Given the description of an element on the screen output the (x, y) to click on. 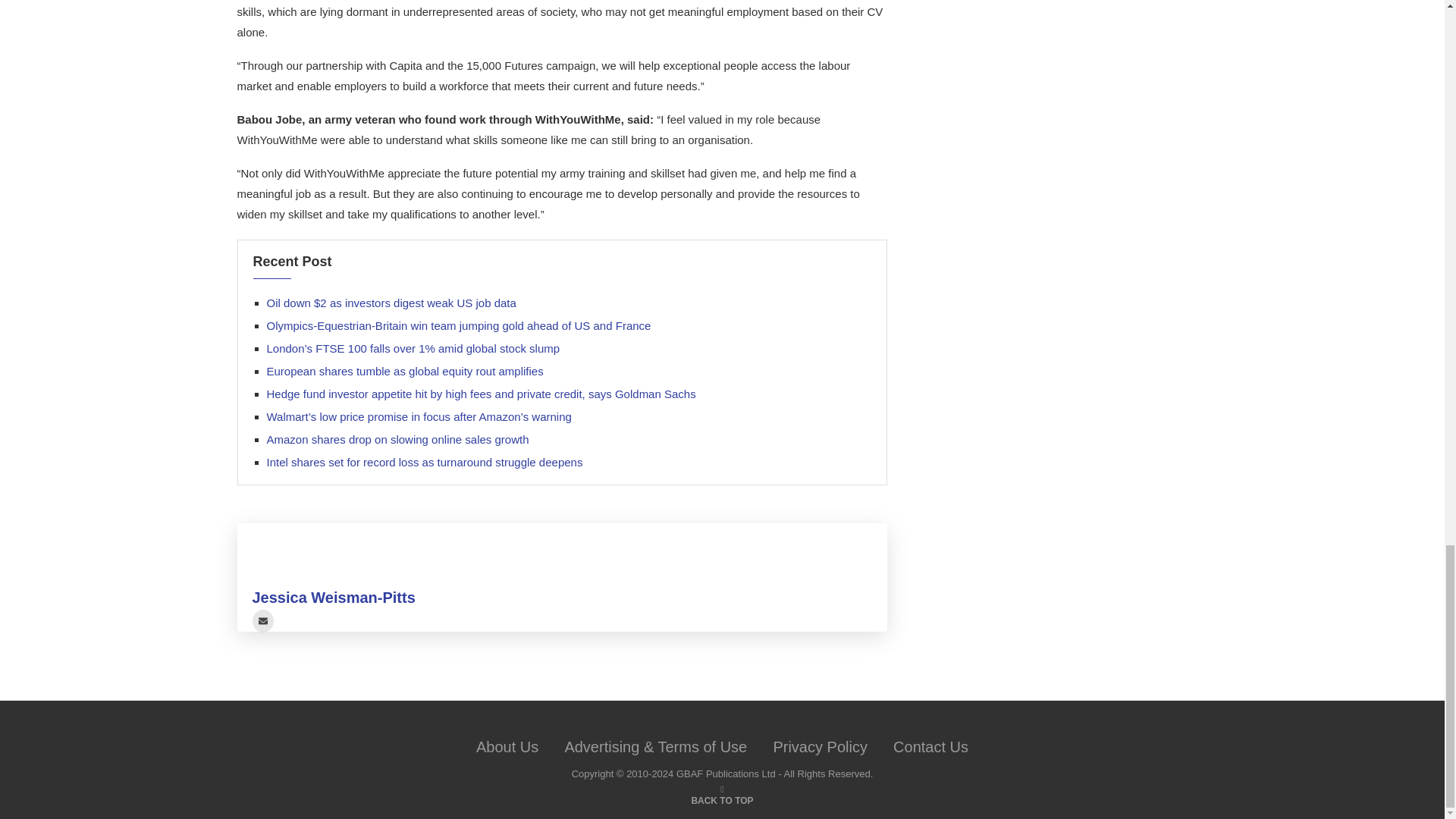
Jessica Weisman-Pitts (332, 597)
European shares tumble as global equity rout amplifies (404, 370)
BACK TO TOP (721, 799)
About Us (507, 746)
Contact Us (930, 746)
Amazon shares drop on slowing online sales growth (397, 439)
User email (262, 620)
